Given the description of an element on the screen output the (x, y) to click on. 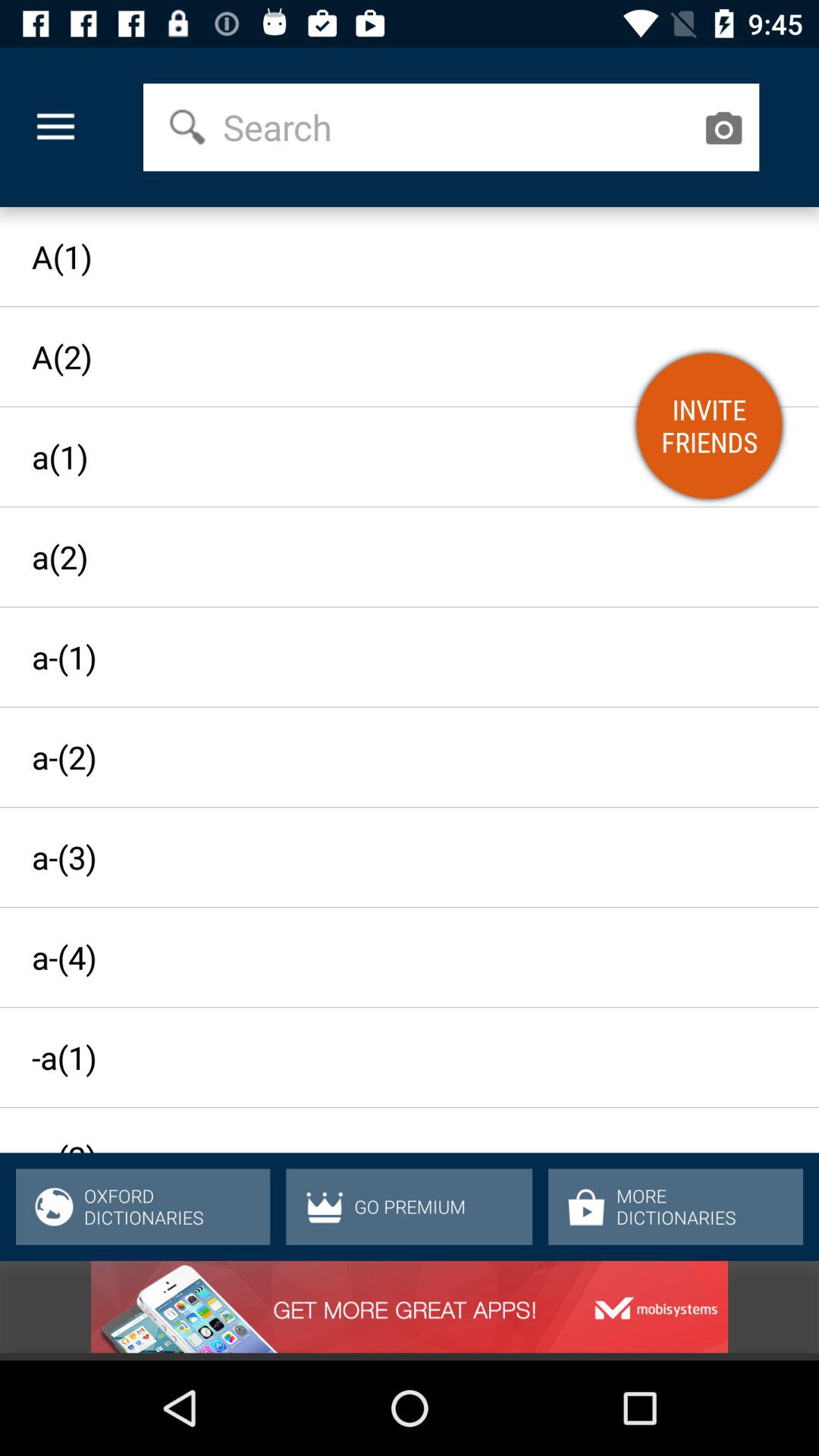
launch the item above a(1) icon (456, 127)
